Given the description of an element on the screen output the (x, y) to click on. 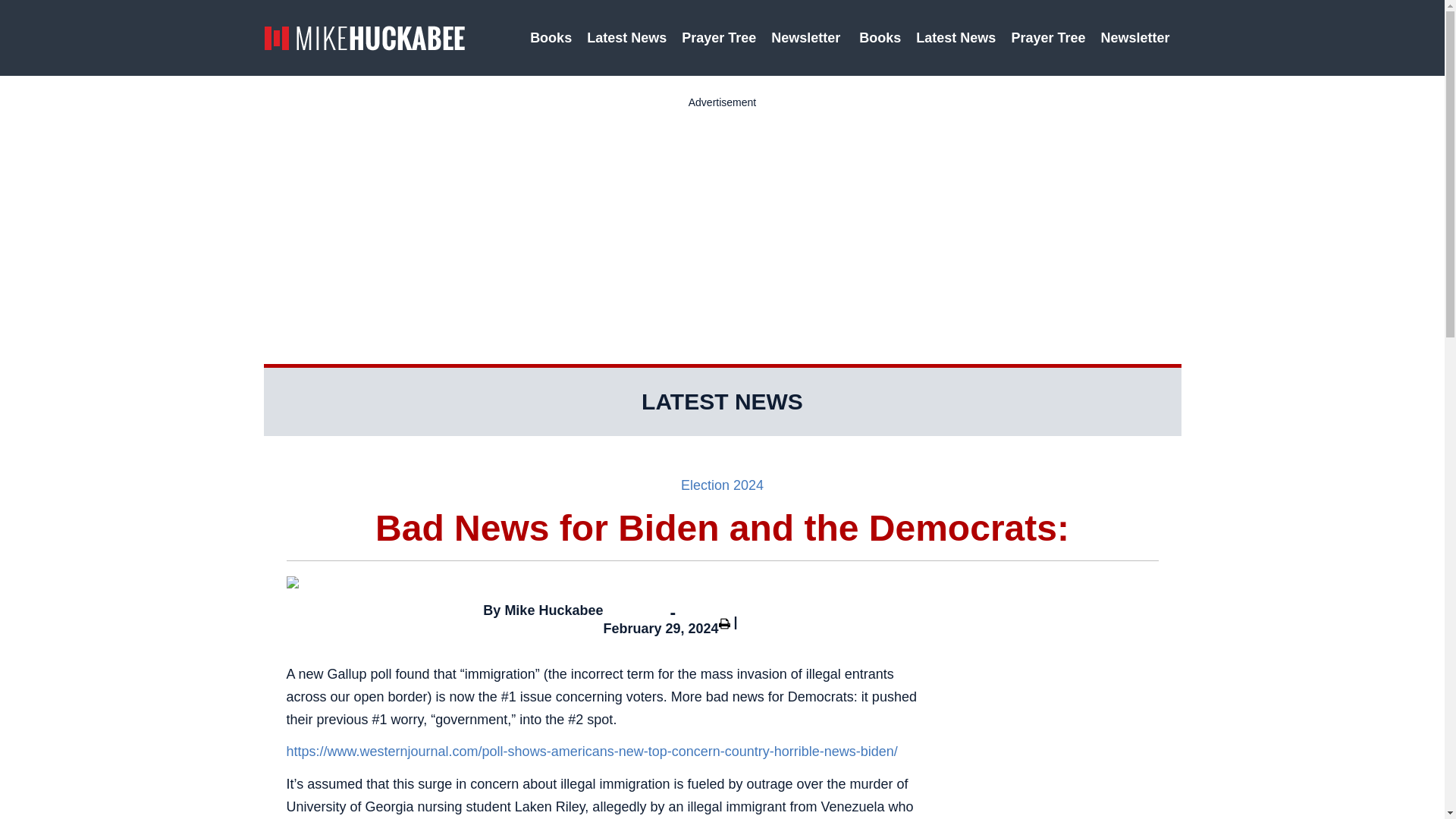
Latest News (955, 38)
Newsletter (806, 38)
Newsletter (1136, 38)
Prayer Tree (718, 38)
Prayer Tree (1048, 38)
Election 2024 (721, 485)
Latest News (626, 38)
Bad News for Biden and the Democrats: (722, 528)
